Given the description of an element on the screen output the (x, y) to click on. 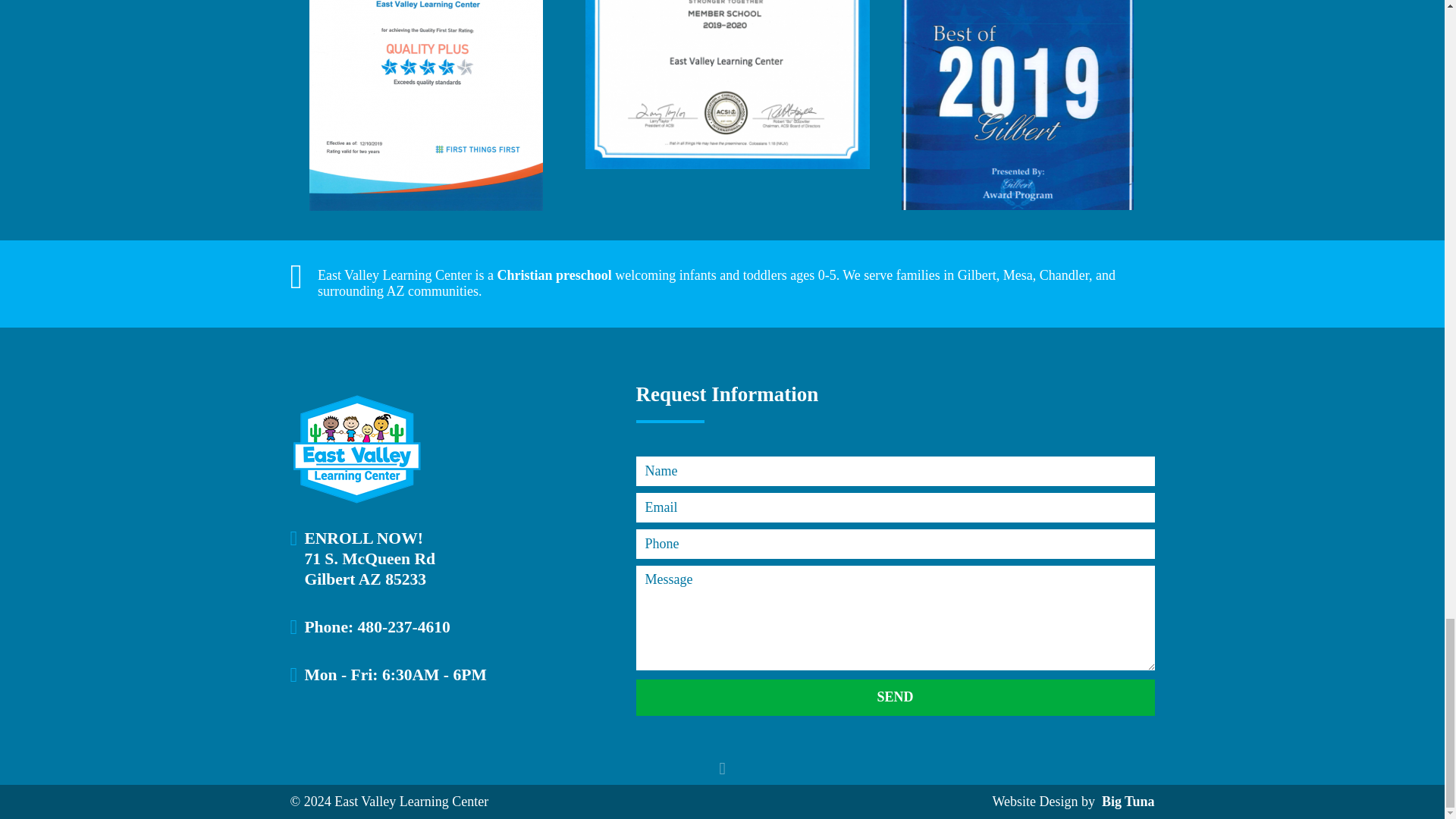
Christian preschool (554, 274)
Big Tuna (1125, 801)
Send (894, 697)
Send (894, 697)
